Given the description of an element on the screen output the (x, y) to click on. 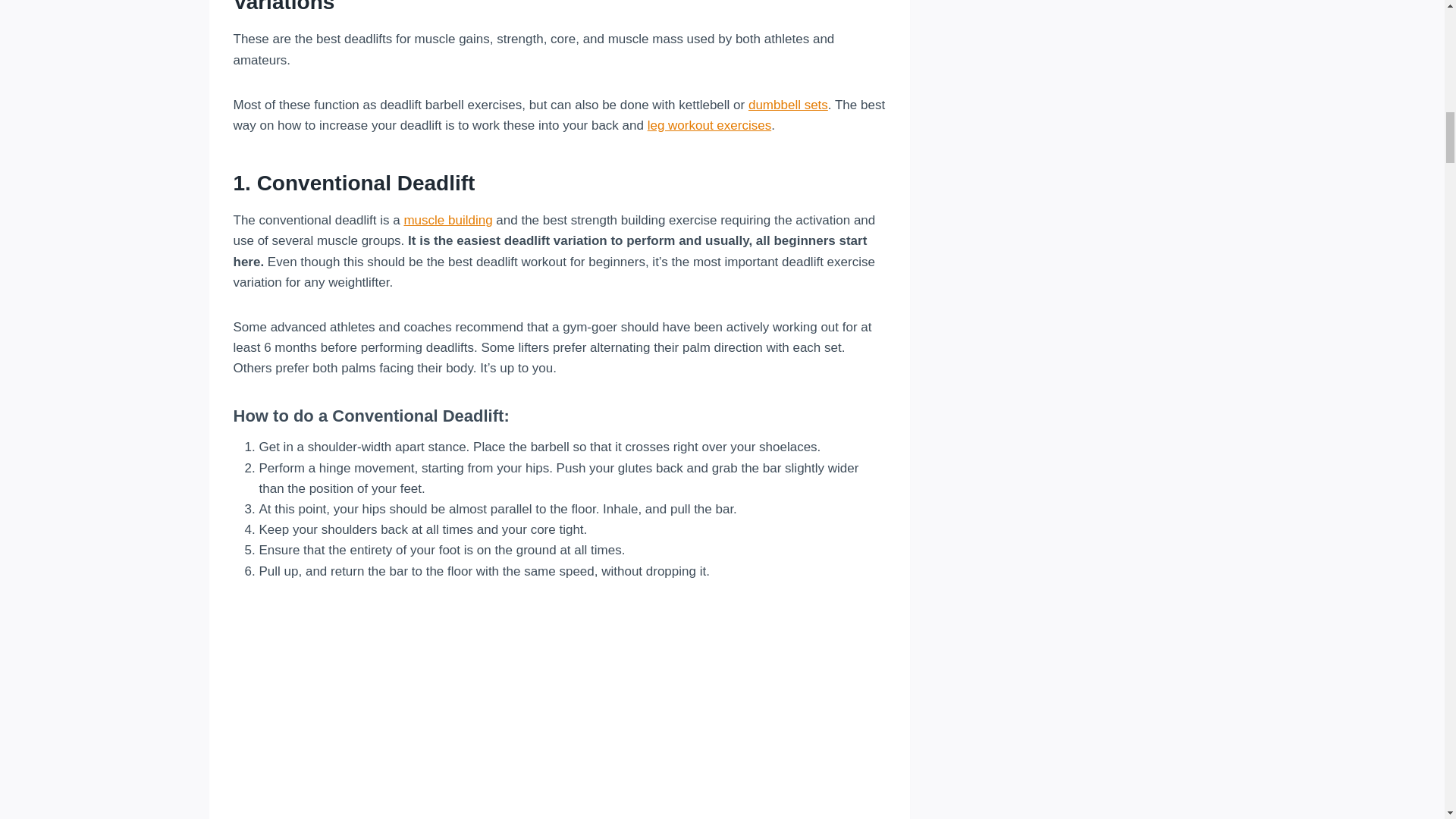
leg workout exercises (709, 124)
dumbbell sets (788, 104)
muscle building (447, 219)
